Given the description of an element on the screen output the (x, y) to click on. 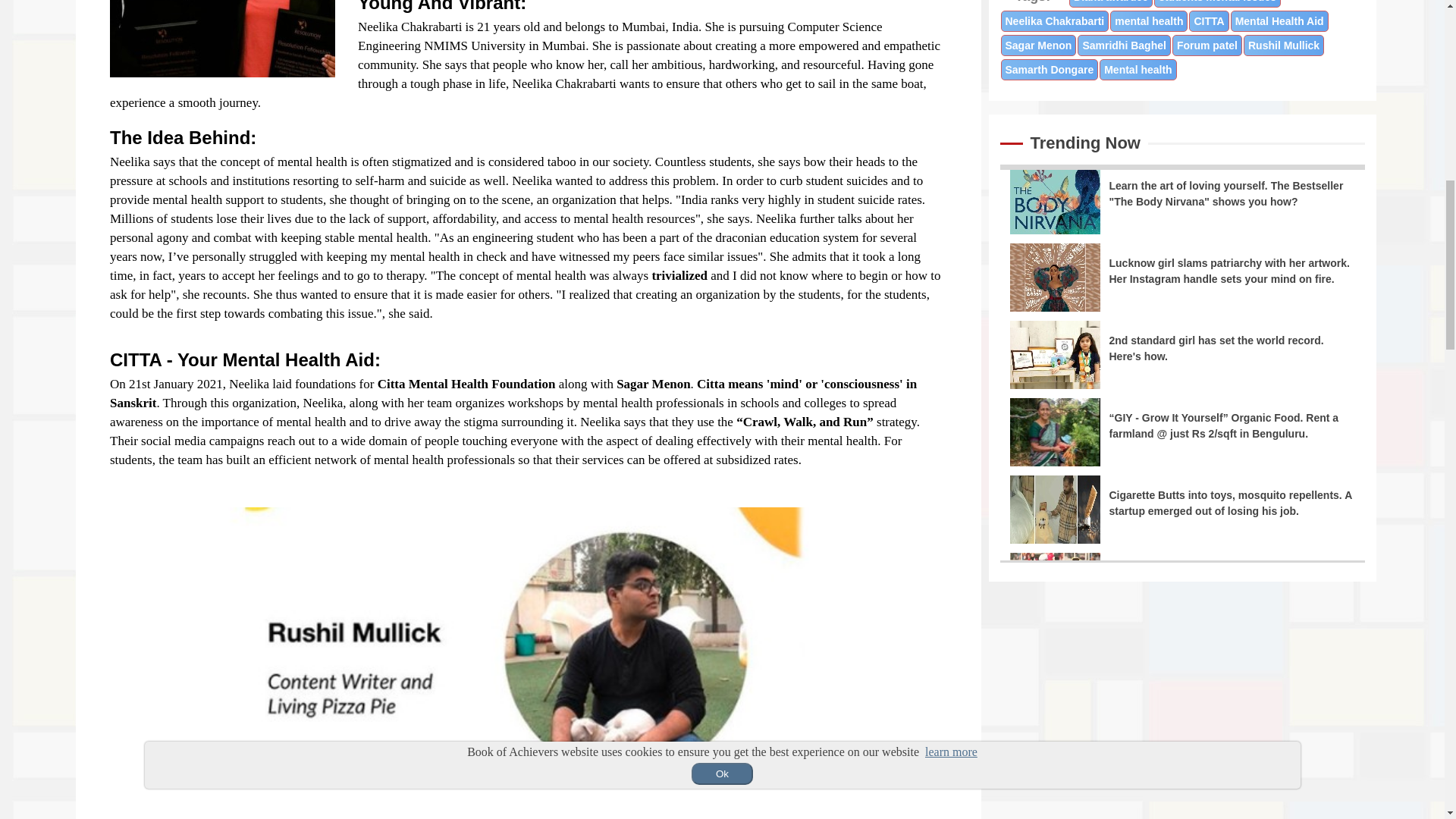
Next (950, 716)
Previous (106, 716)
neelika chakrabarti (222, 38)
